Given the description of an element on the screen output the (x, y) to click on. 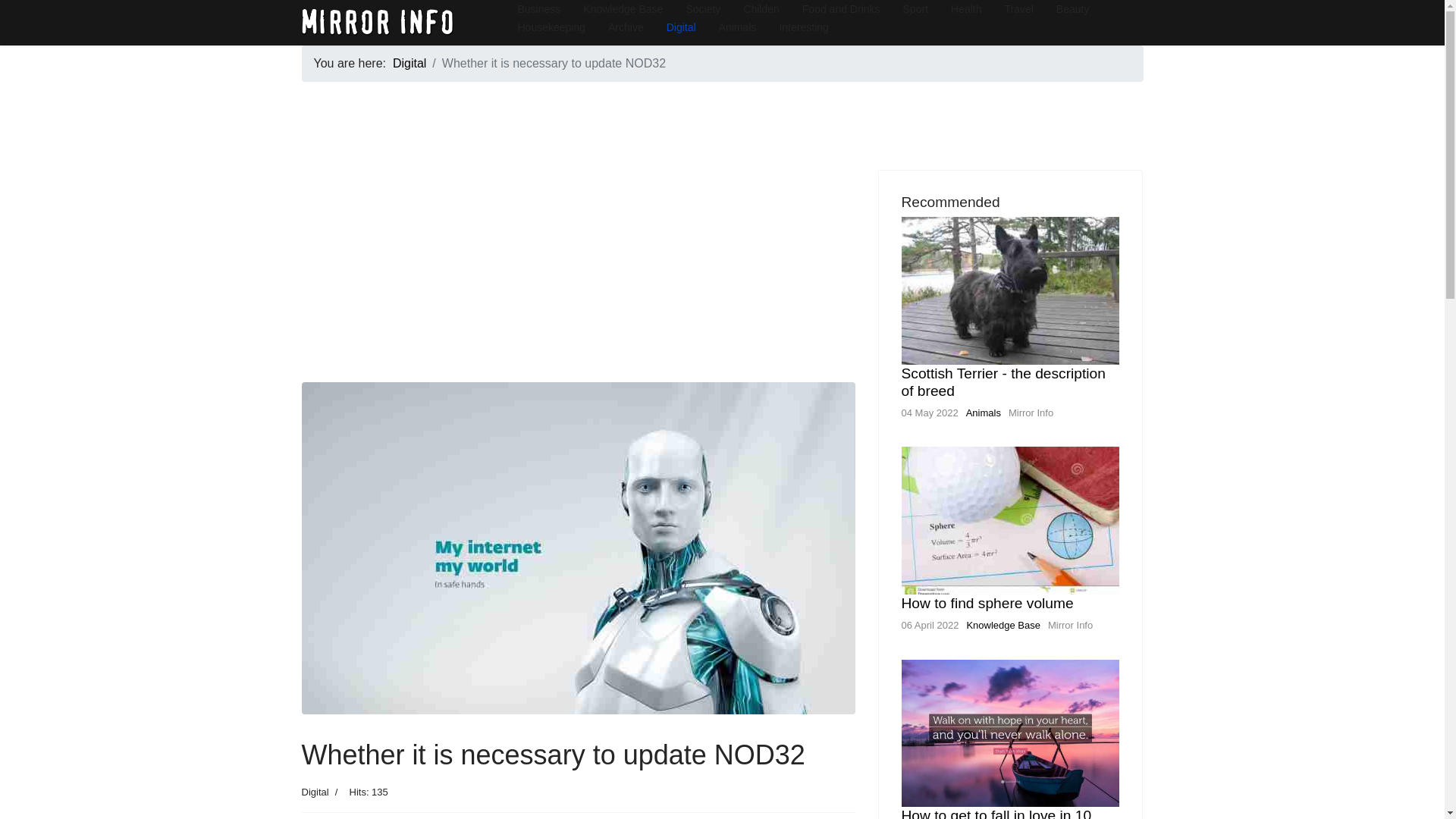
Digital (315, 791)
Animals (983, 412)
Category: Digital (315, 792)
How to find sphere volume (987, 602)
Advertisement (578, 275)
Knowledge Base (1003, 624)
Digital (409, 62)
How to get to fall in love in 10 days (995, 813)
Scottish Terrier - the description of breed (1003, 381)
